Given the description of an element on the screen output the (x, y) to click on. 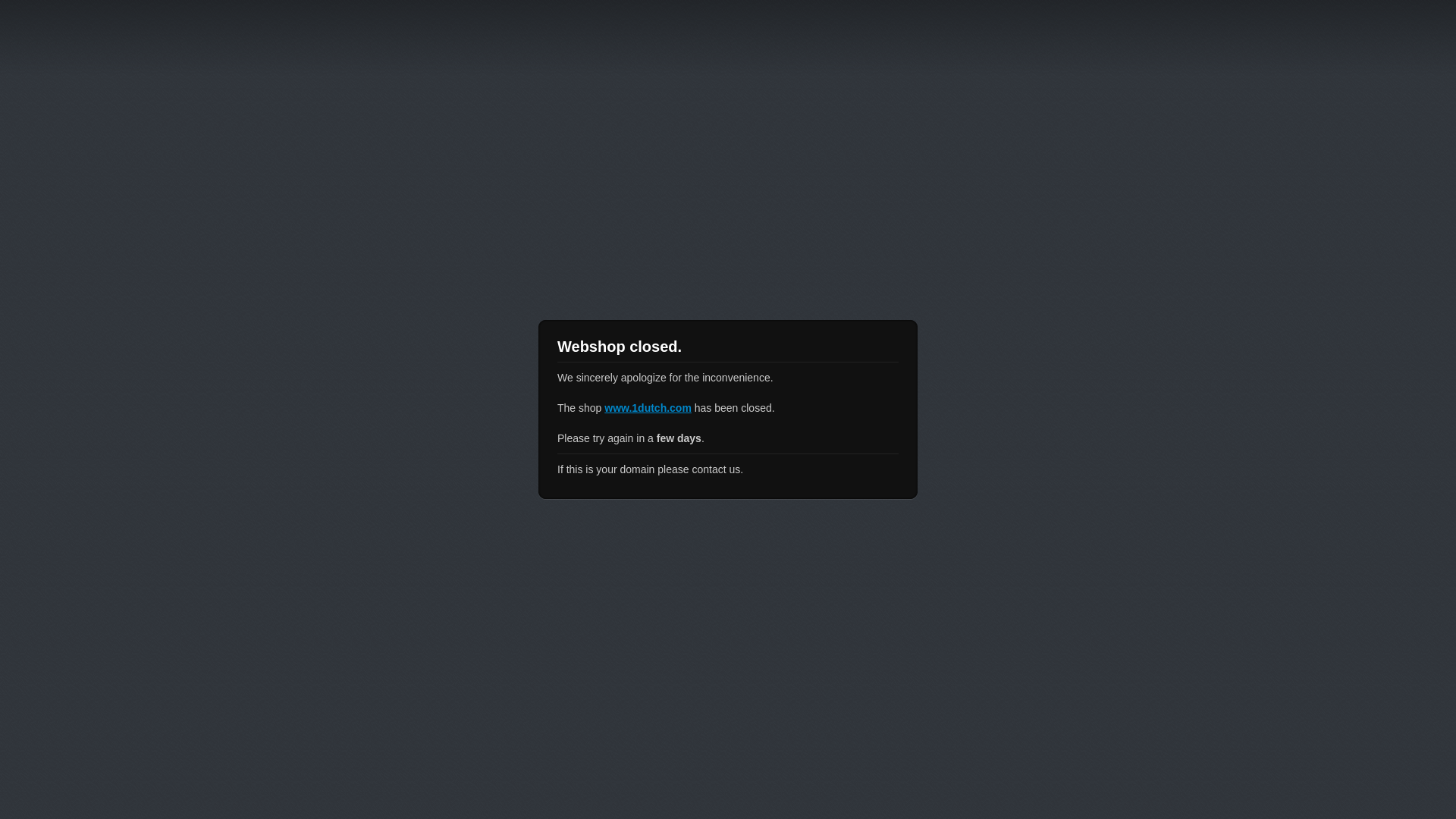
www.1dutch.com Element type: text (647, 407)
